Given the description of an element on the screen output the (x, y) to click on. 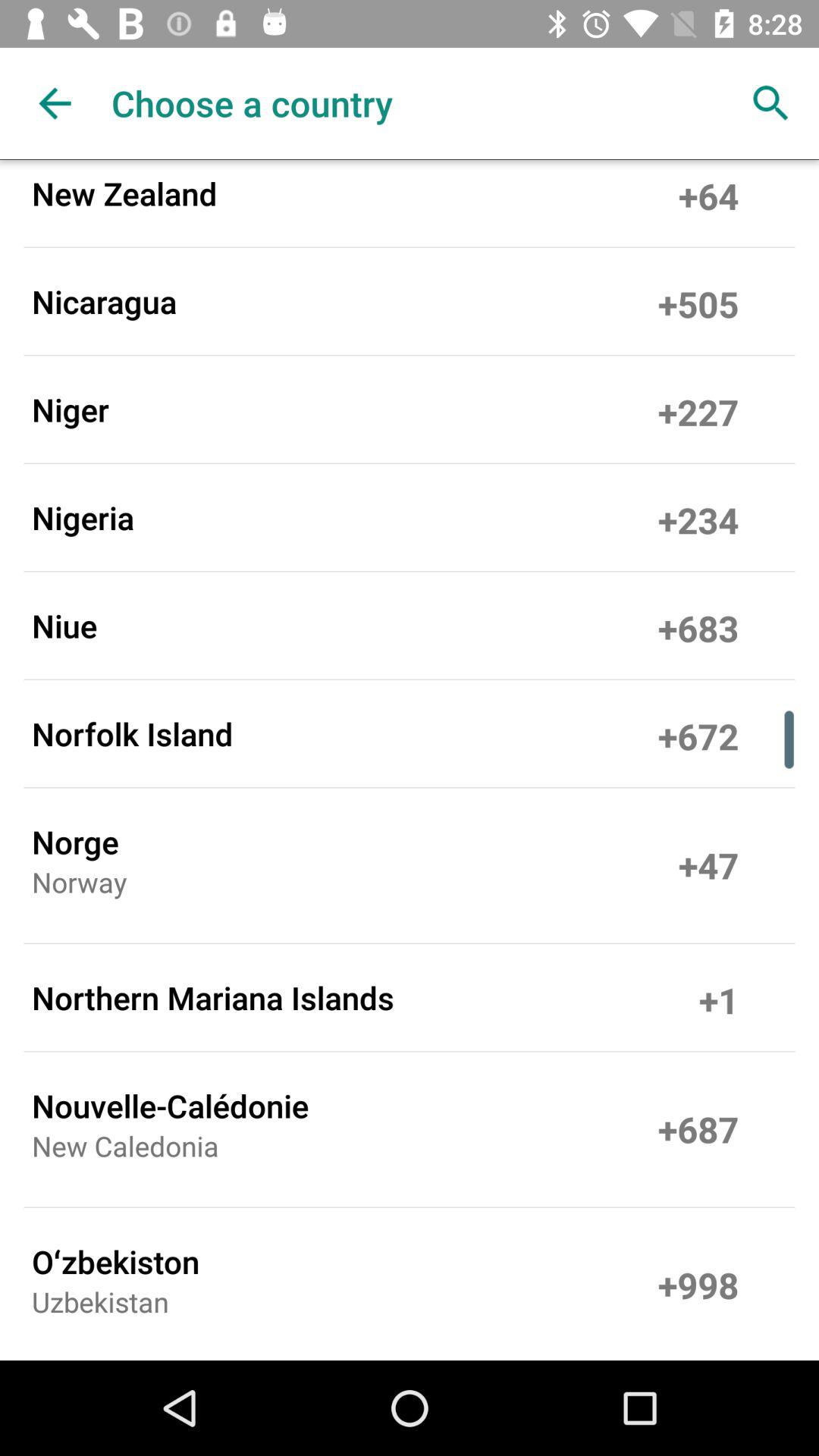
open icon next to the +505 icon (103, 301)
